Given the description of an element on the screen output the (x, y) to click on. 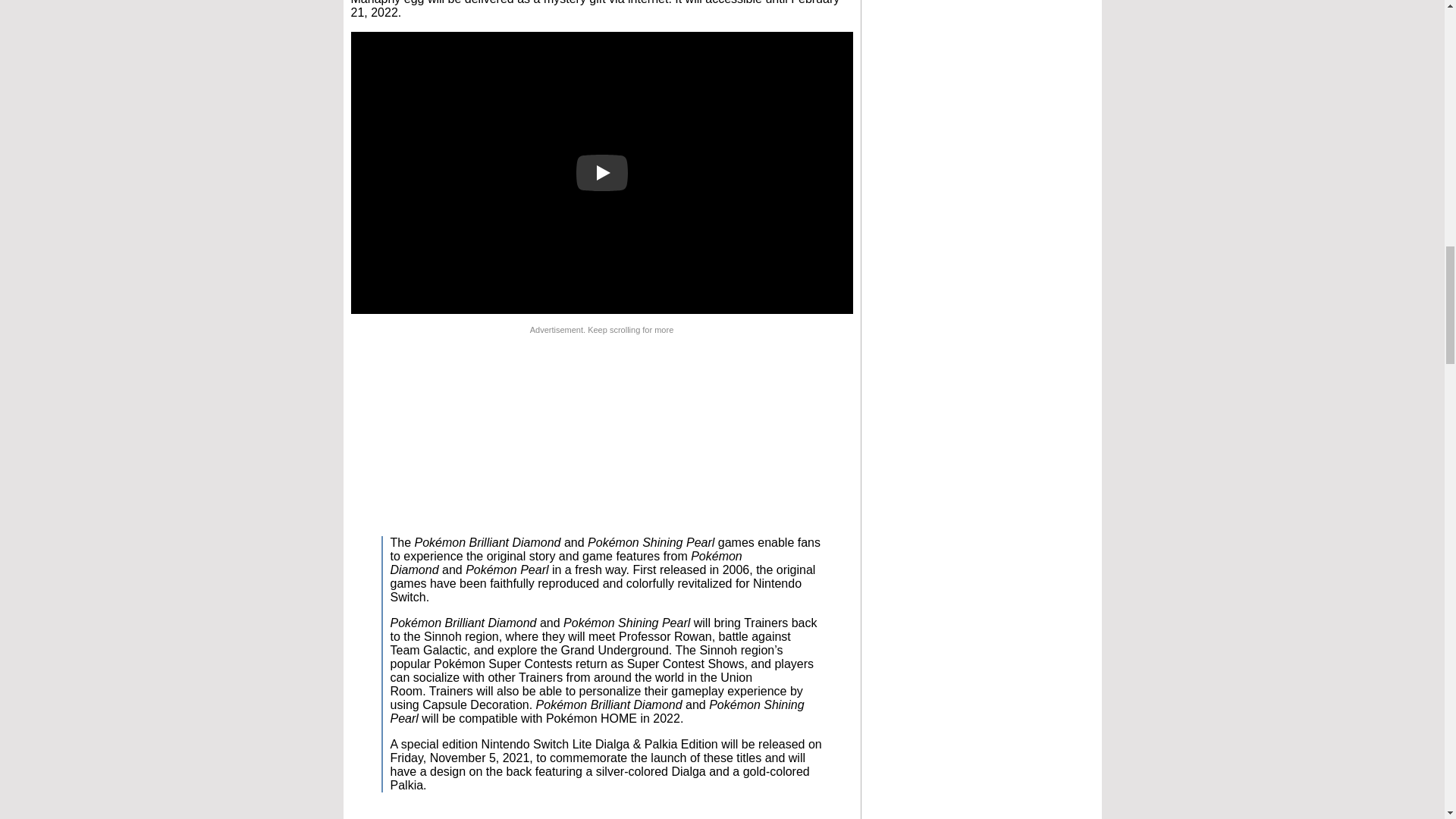
Play (601, 172)
